Given the description of an element on the screen output the (x, y) to click on. 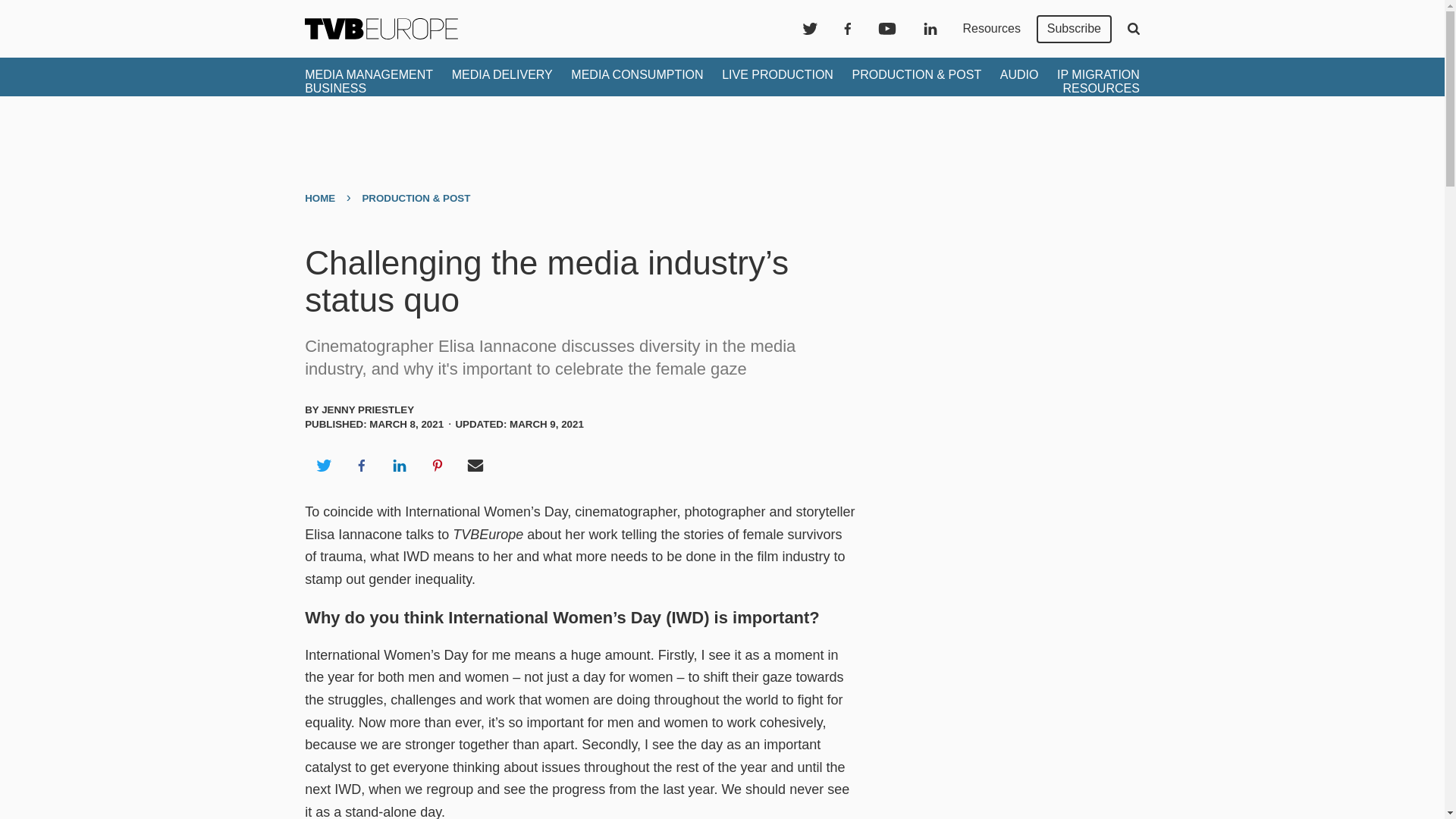
Share on LinkedIn (399, 465)
Share via Email (476, 465)
Jenny Priestley's Author Profile (367, 409)
Share on Twitter (323, 465)
Share on Pinterest (438, 465)
Share on Facebook (361, 465)
